Given the description of an element on the screen output the (x, y) to click on. 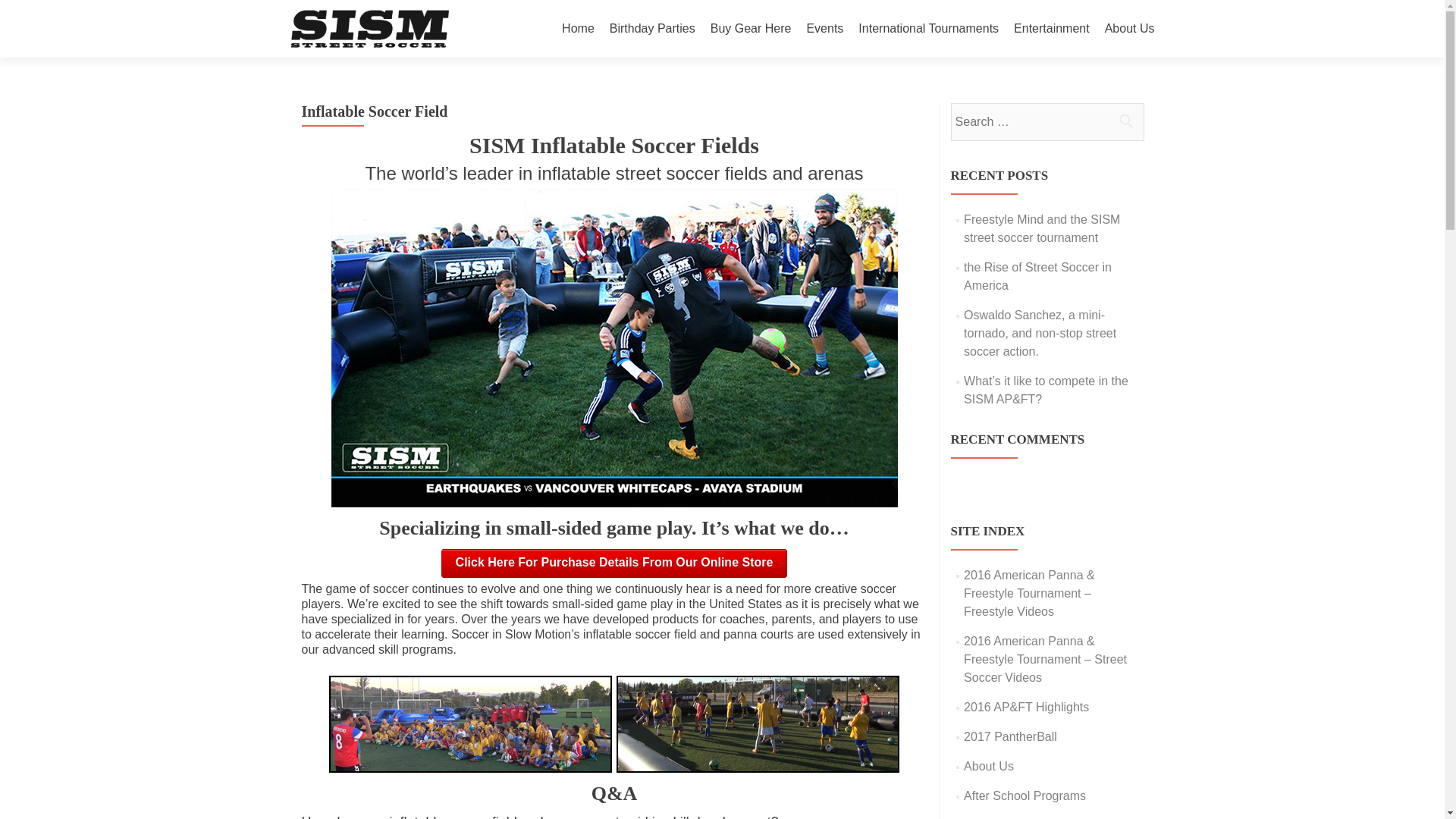
International Tournaments (928, 28)
Search (1125, 120)
Click Here For Purchase Details From Our Online Store (614, 563)
Search (1125, 120)
Entertainment (1051, 28)
Click here for purchase details from our online store (614, 563)
Home (578, 28)
Events (824, 28)
Buy Gear Here (751, 28)
Birthday Parties (652, 28)
About Us (1129, 28)
